Given the description of an element on the screen output the (x, y) to click on. 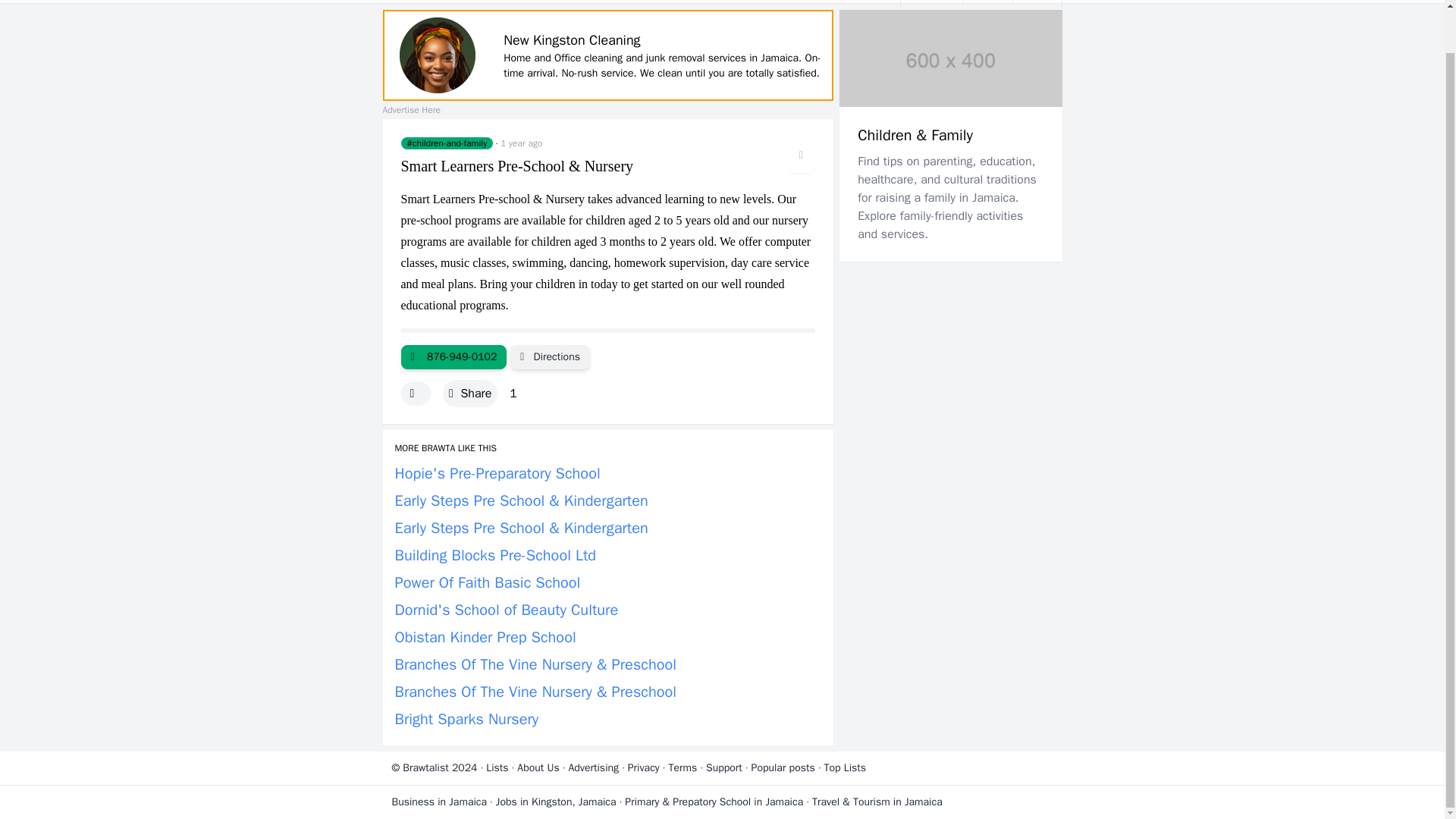
Jobs in Kingston, Jamaica (555, 801)
Support (724, 767)
 Share (469, 393)
  876-949-0102 (453, 356)
Building Blocks Pre-School Ltd (494, 555)
Hopie's Pre-Preparatory School (496, 473)
 Directions (550, 356)
Like (414, 393)
CONTACT (855, 1)
Terms (682, 767)
Share (469, 393)
Power Of Faith Basic School (486, 582)
Advertising (592, 767)
Search (1037, 2)
